Given the description of an element on the screen output the (x, y) to click on. 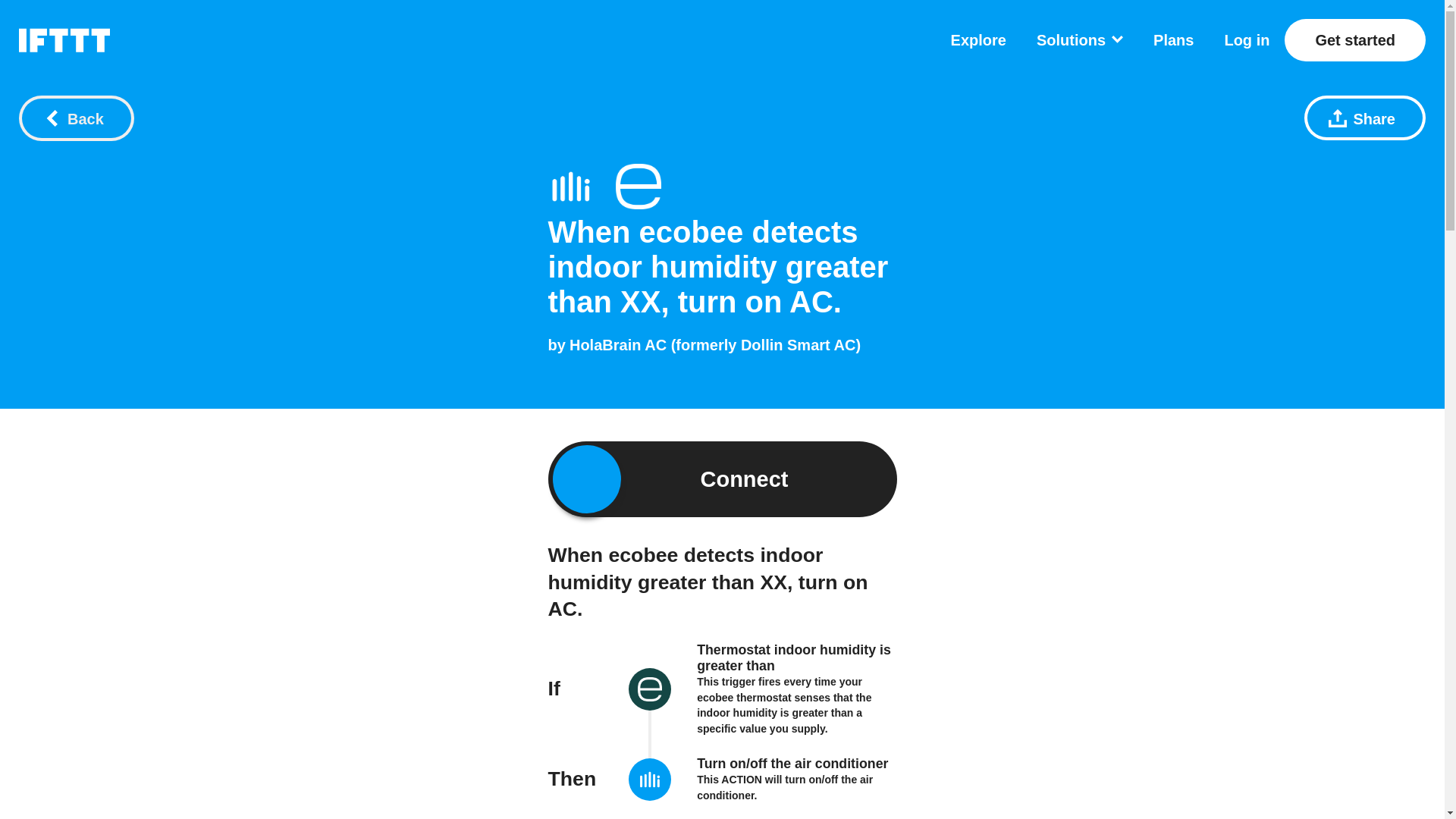
Fewer details (590, 816)
Log in (1246, 39)
ecobee Thermostat indoor humidity is greater than. (638, 186)
ecobee (649, 691)
Thermostat indoor humidity is greater than (794, 657)
Get started (1354, 39)
Get started (1354, 39)
Explore (978, 39)
Share (1364, 117)
Explore (978, 39)
